Given the description of an element on the screen output the (x, y) to click on. 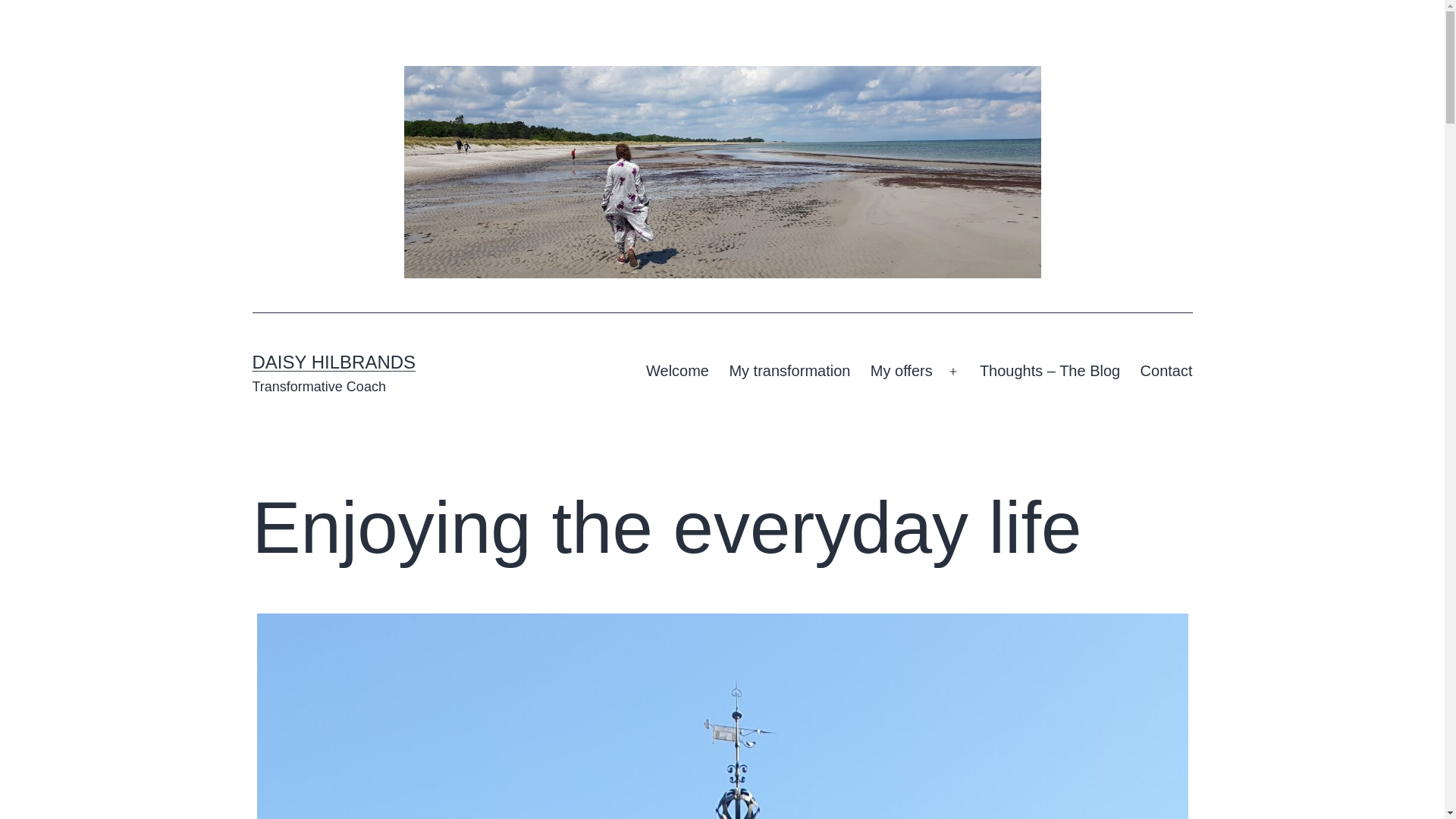
My transformation (789, 371)
DAISY HILBRANDS (332, 362)
Contact (1165, 371)
Welcome (677, 371)
My offers (901, 371)
